Given the description of an element on the screen output the (x, y) to click on. 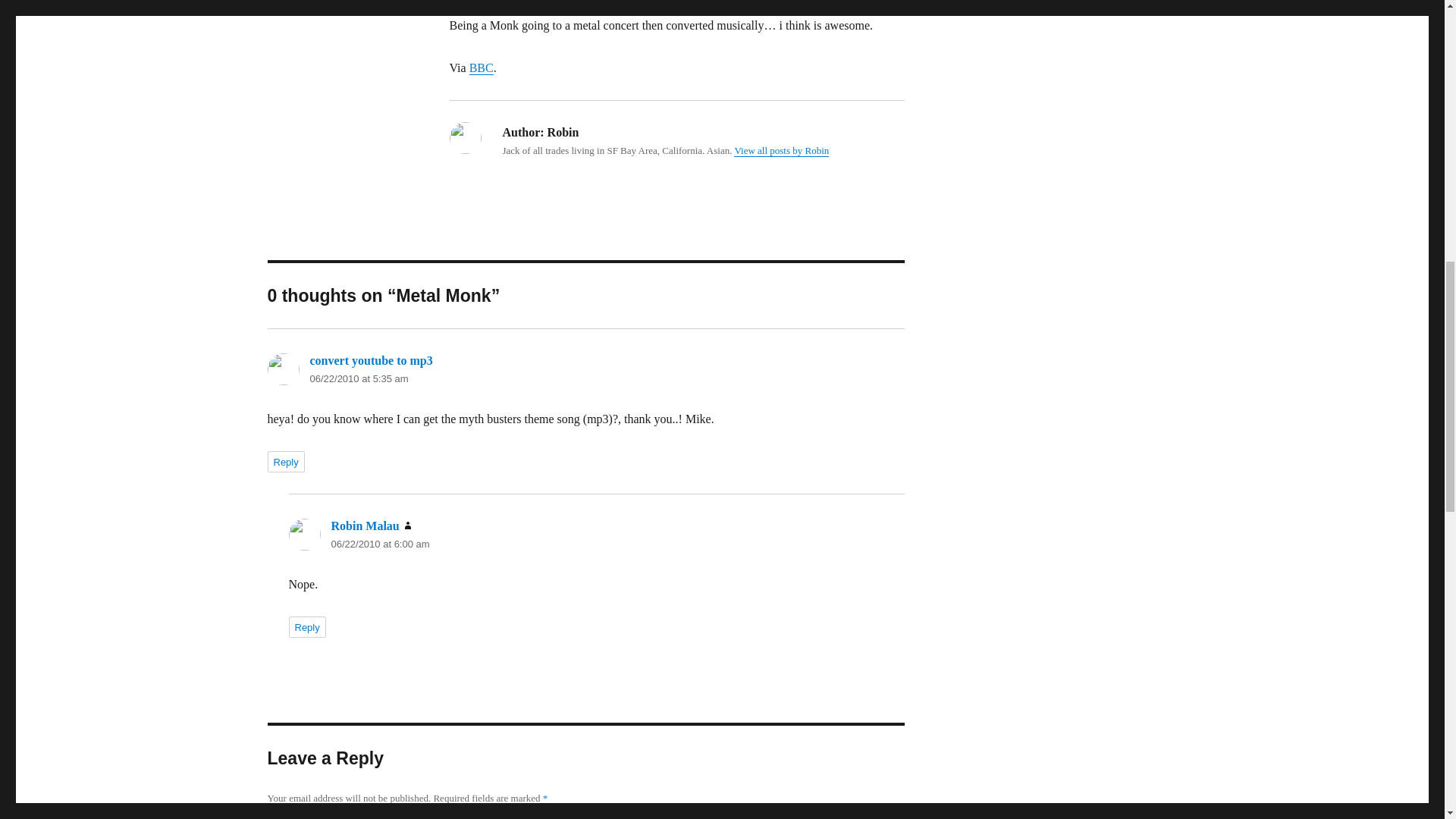
BBC (480, 67)
Reply (306, 627)
View all posts by Robin (780, 150)
convert youtube to mp3 (370, 359)
Reply (285, 461)
Robin Malau (364, 525)
